Given the description of an element on the screen output the (x, y) to click on. 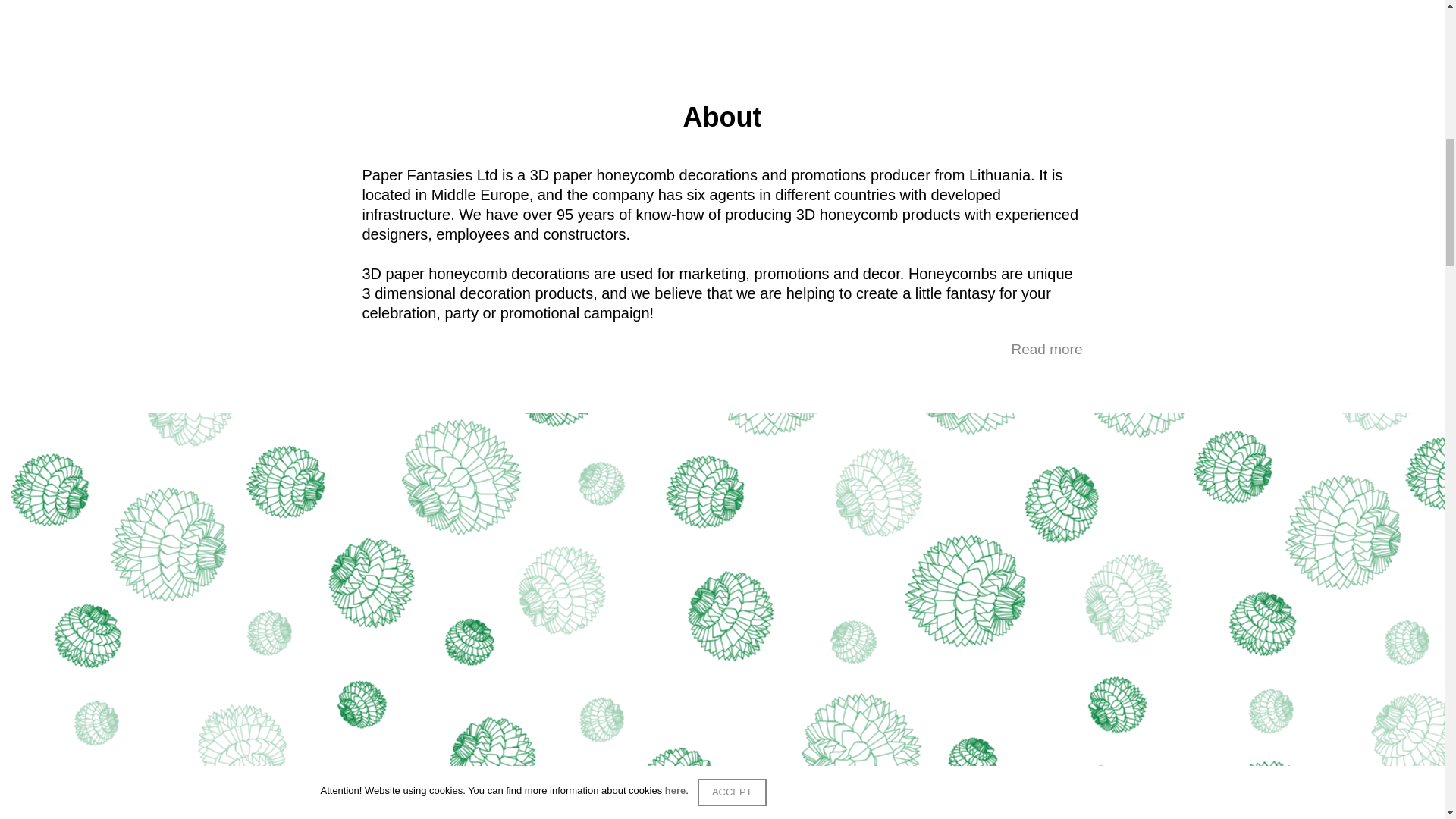
Read more (1047, 349)
